Given the description of an element on the screen output the (x, y) to click on. 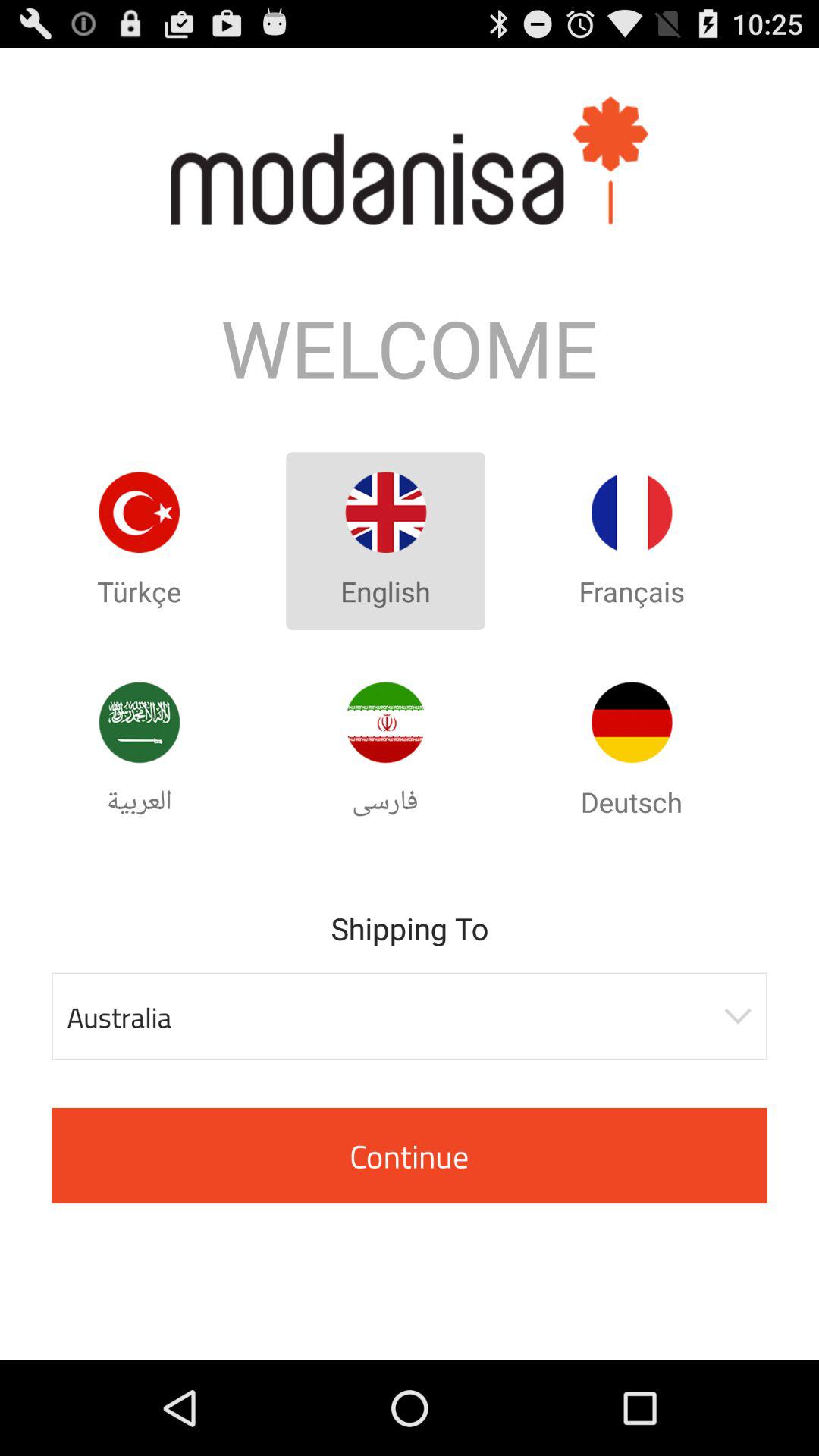
jump to the continue icon (409, 1155)
